Given the description of an element on the screen output the (x, y) to click on. 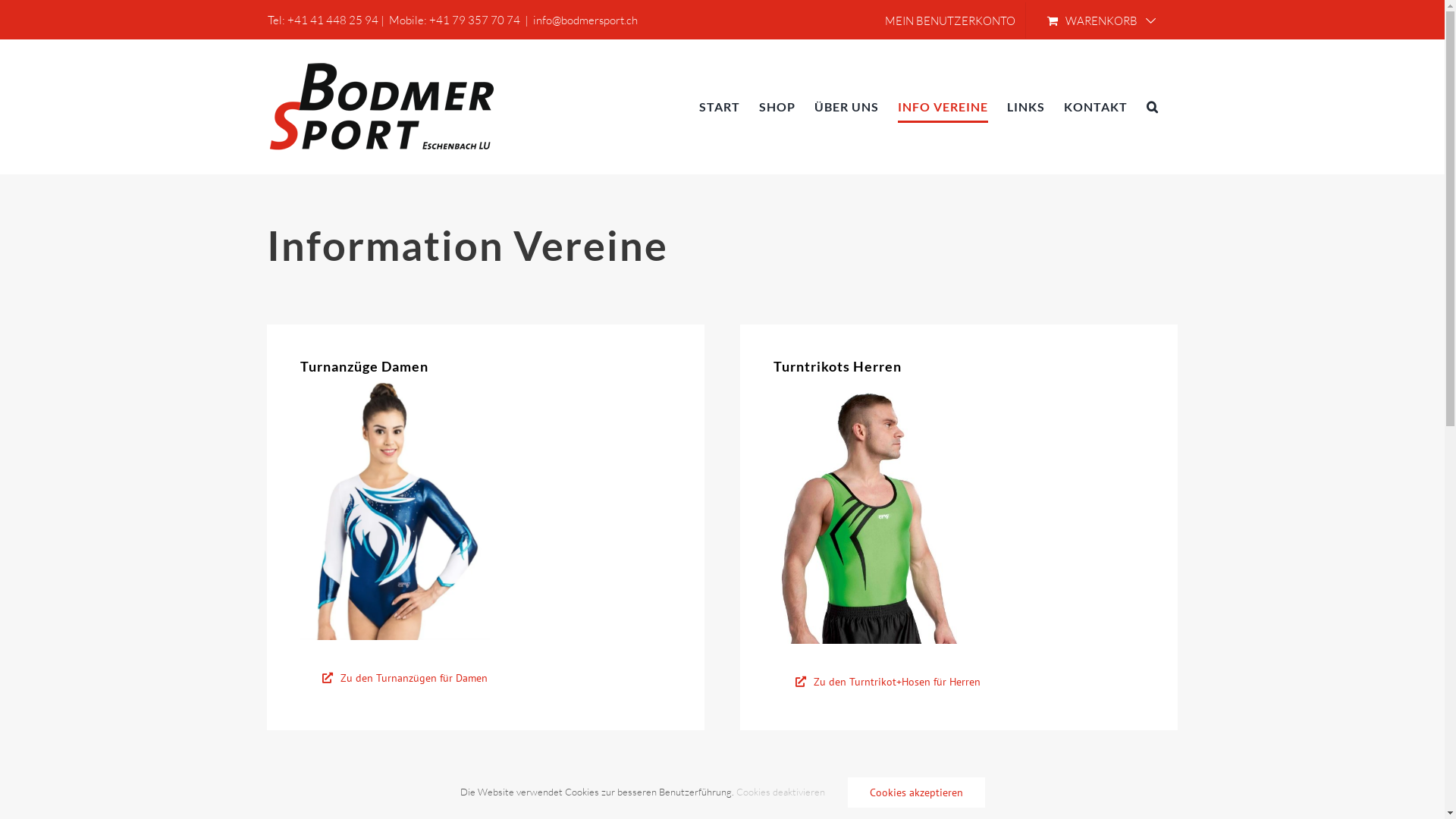
info@bodmersport.ch Element type: text (584, 19)
Cookies akzeptieren Element type: text (916, 792)
Suche Element type: hover (1152, 106)
Anmelden Element type: text (1051, 181)
KONTAKT Element type: text (1094, 106)
turnanzug_herren Element type: hover (868, 511)
SHOP Element type: text (776, 106)
START Element type: text (719, 106)
WARENKORB Element type: text (1100, 20)
INFO VEREINE Element type: text (942, 106)
LINKS Element type: text (1025, 106)
Cookies deaktivieren Element type: text (779, 791)
turnanzug_damen Element type: hover (394, 509)
MEIN BENUTZERKONTO Element type: text (950, 20)
